Given the description of an element on the screen output the (x, y) to click on. 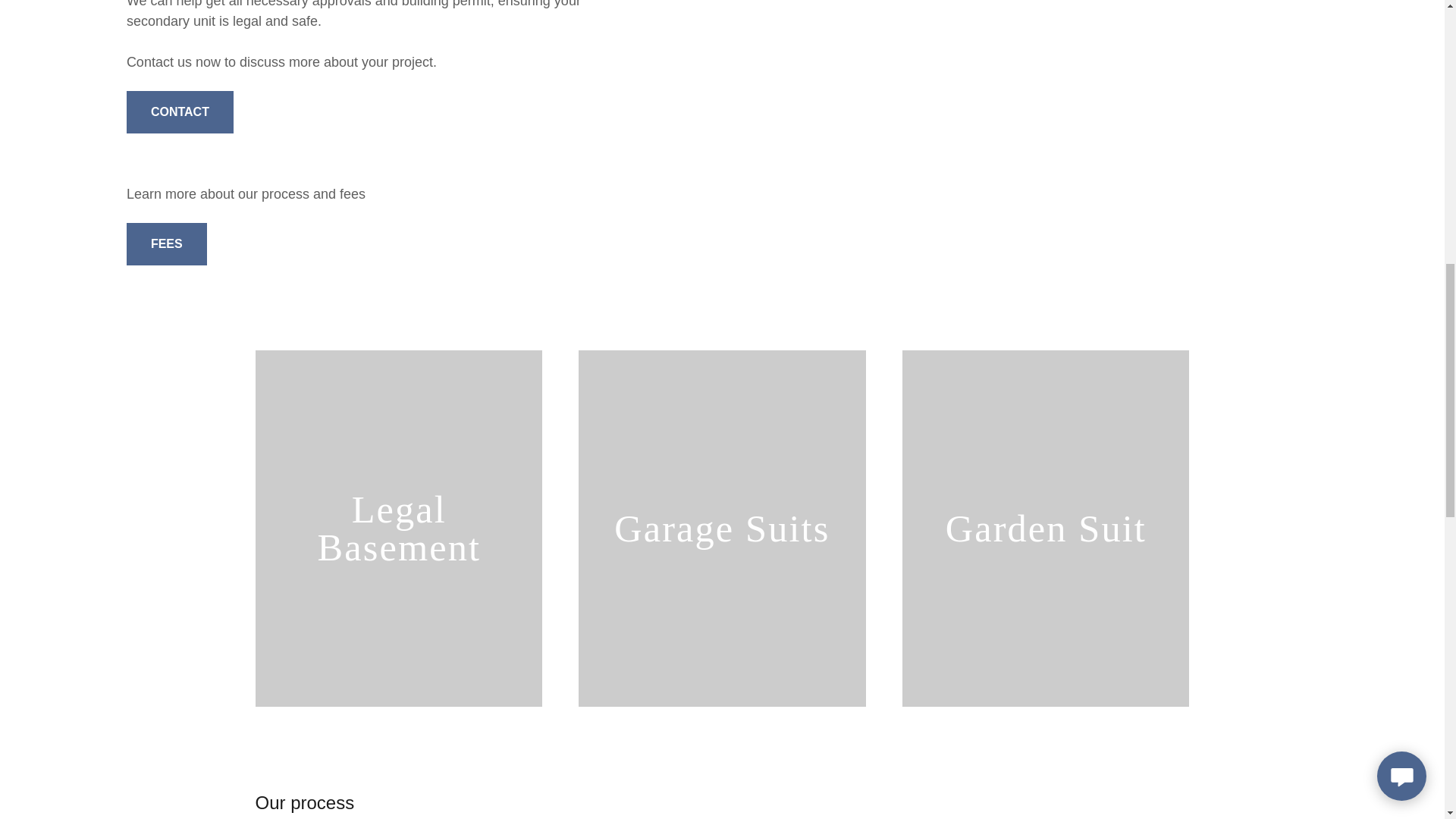
FEES (166, 243)
CONTACT (179, 111)
